Given the description of an element on the screen output the (x, y) to click on. 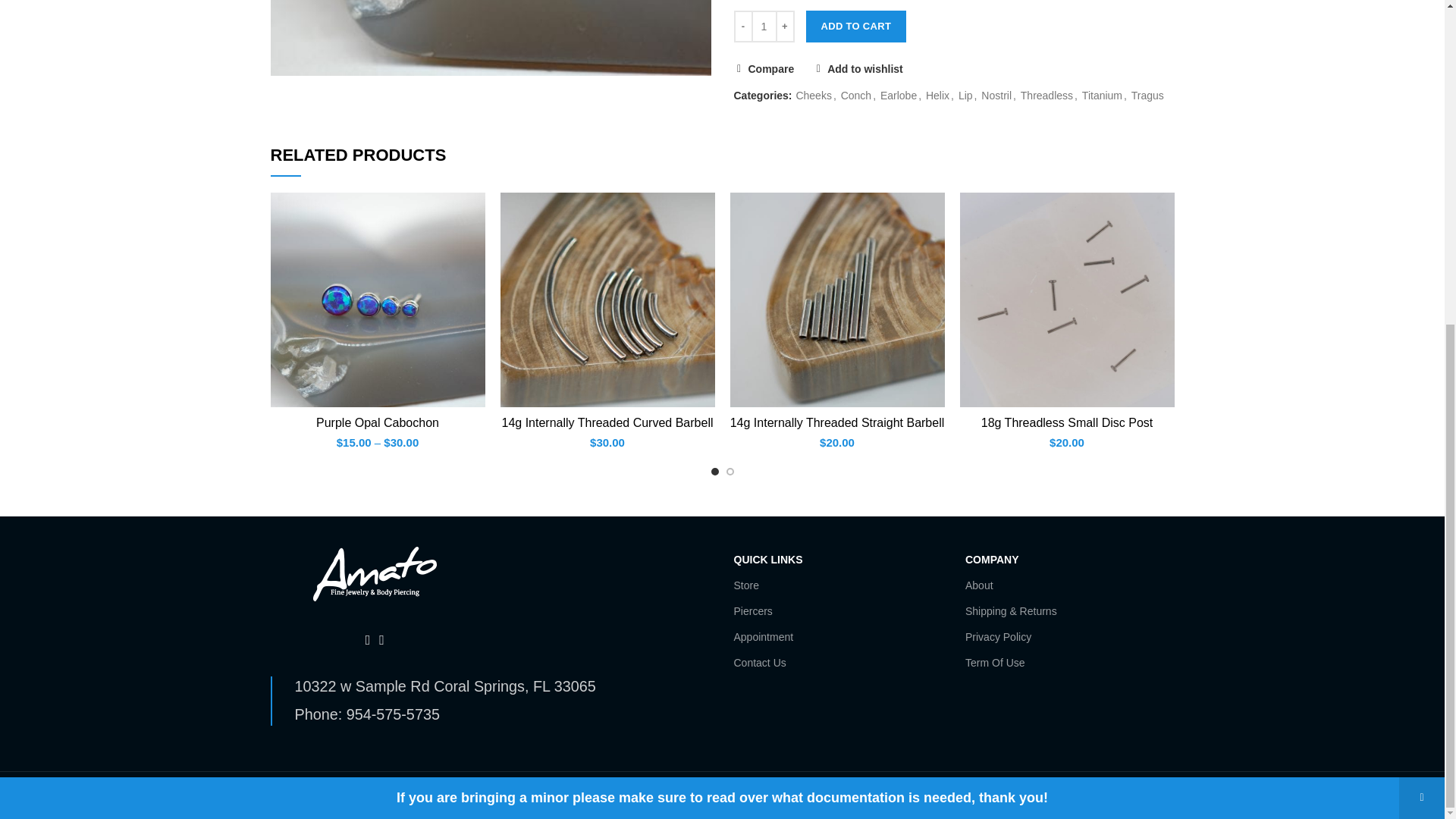
1 (763, 26)
- (742, 26)
